Given the description of an element on the screen output the (x, y) to click on. 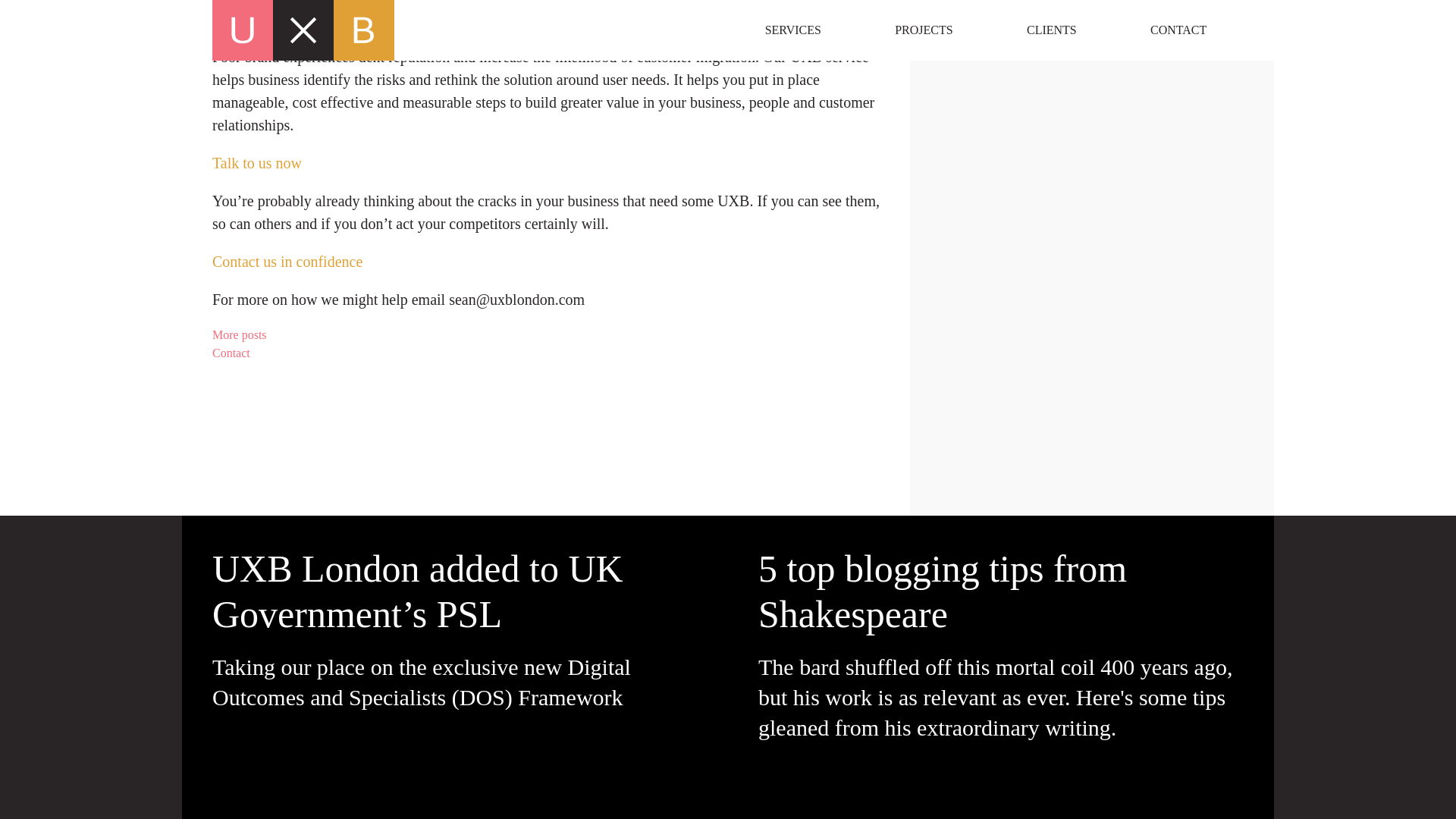
Contact (545, 352)
More posts (545, 334)
